Given the description of an element on the screen output the (x, y) to click on. 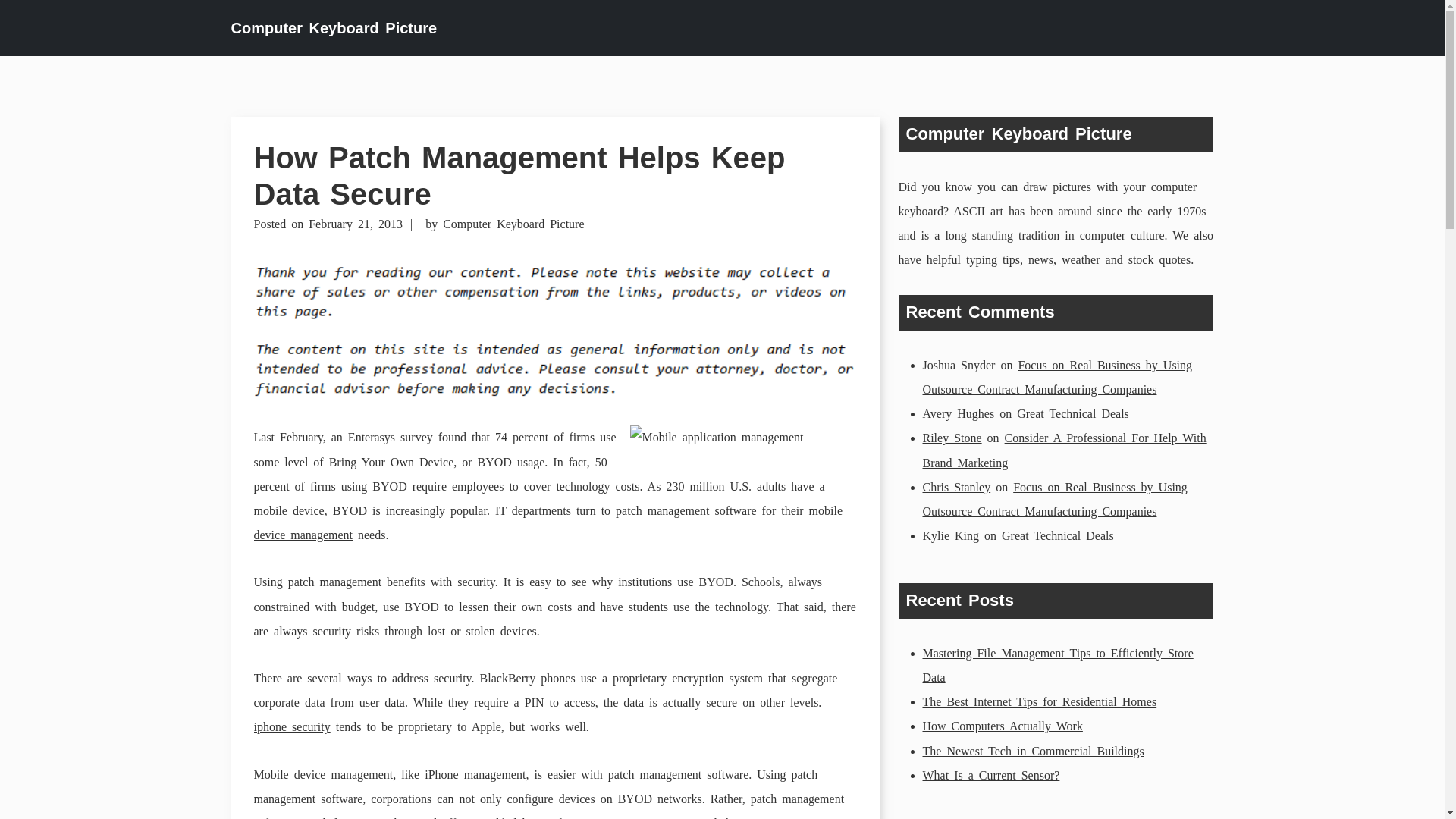
More information about Blackberry reporting (291, 726)
www.maas360.com (796, 817)
mobile device management (548, 522)
More information about Enterprise mobility (796, 817)
The Newest Tech in Commercial Buildings (1031, 750)
How Patch Management Helps Keep Data Secure (518, 175)
iphone security (291, 726)
The Best Internet Tips for Residential Homes (1038, 701)
Chris Stanley (955, 486)
